Given the description of an element on the screen output the (x, y) to click on. 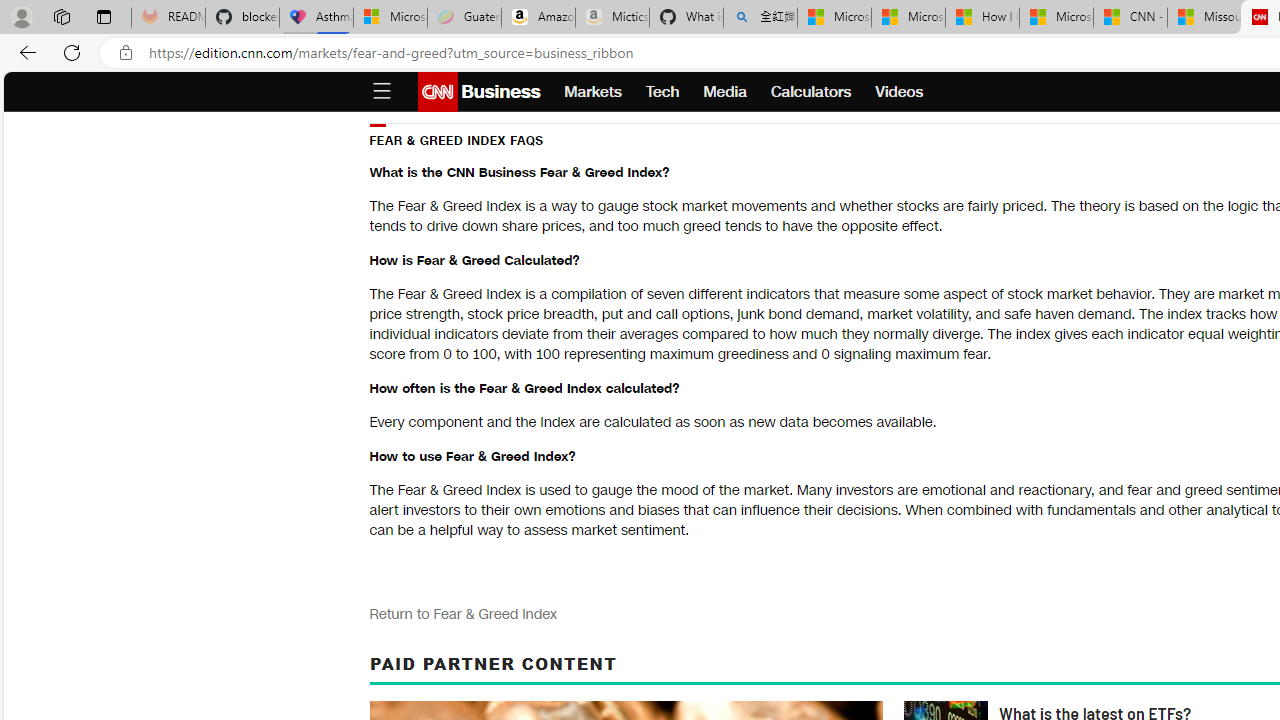
Open Menu Icon (381, 92)
Return to Fear & Greed Index (462, 614)
Microsoft-Report a Concern to Bing (390, 17)
Asthma Inhalers: Names and Types (316, 17)
Media (724, 92)
Markets (593, 92)
